Given the description of an element on the screen output the (x, y) to click on. 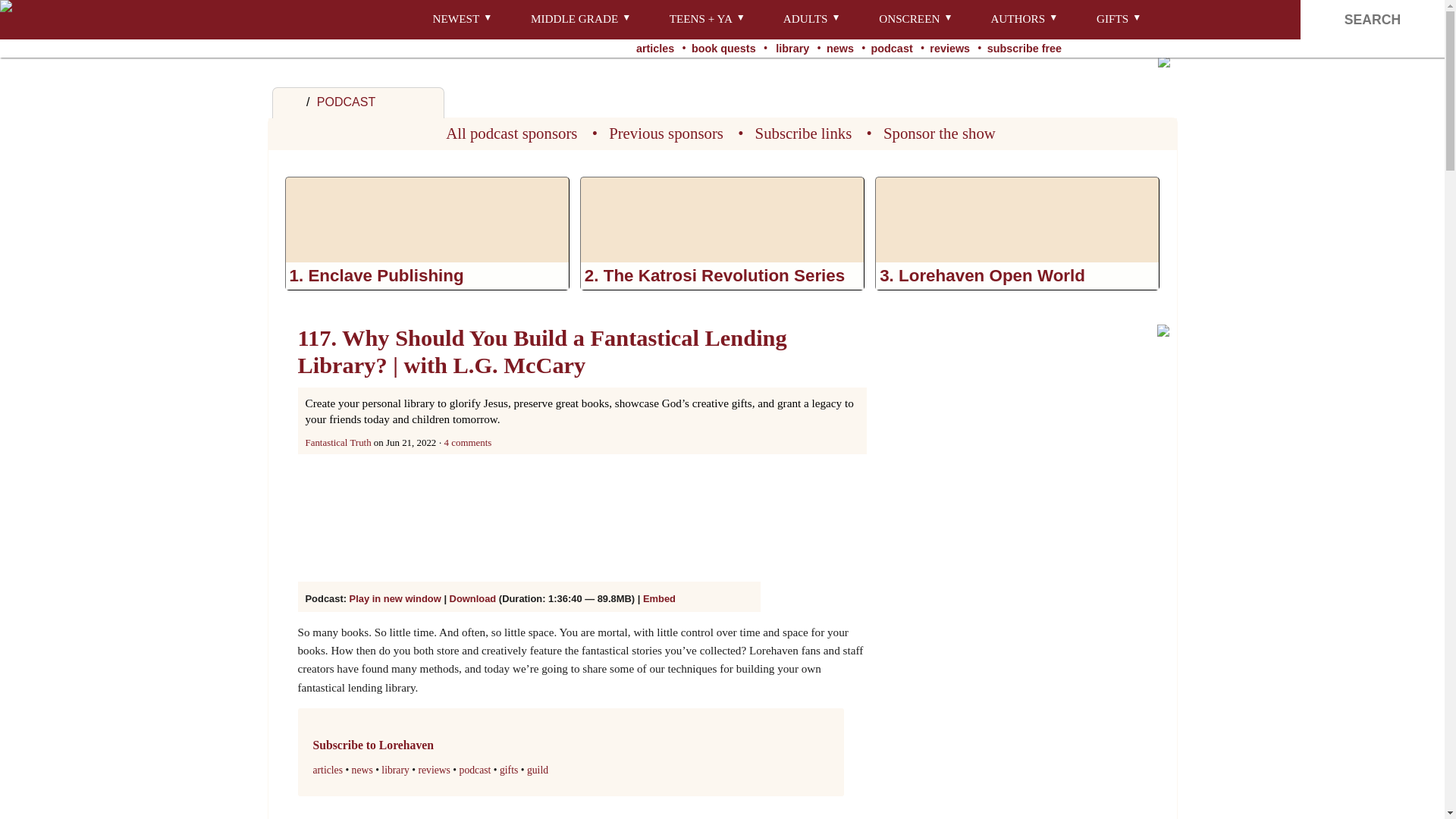
NEWEST (448, 19)
MIDDLE GRADE (566, 19)
